Given the description of an element on the screen output the (x, y) to click on. 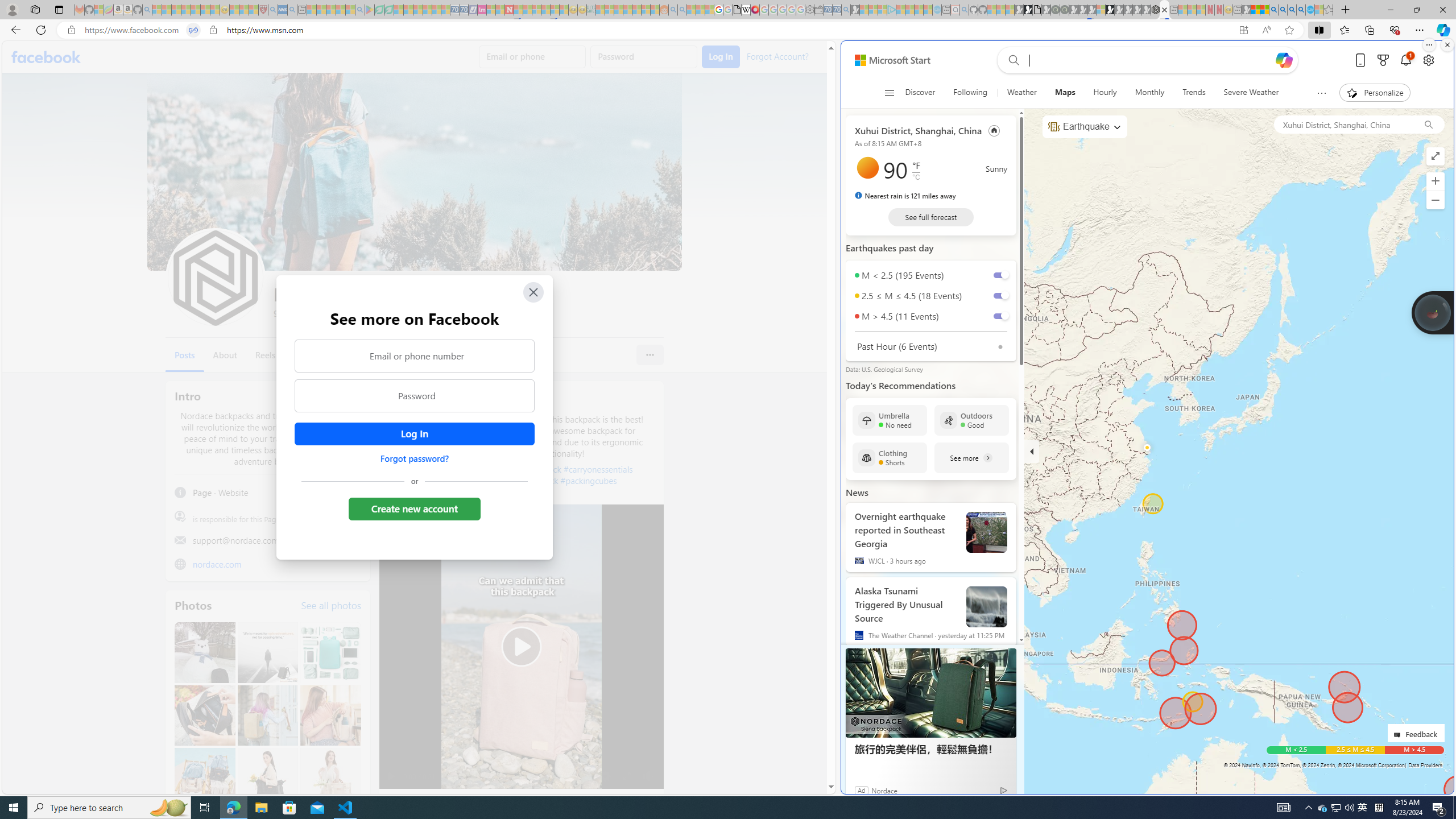
Forgot Account? (776, 55)
Overnight earthquake reported in Southeast Georgia (986, 531)
Bluey: Let's Play! - Apps on Google Play - Sleeping (369, 9)
14 Common Myths Debunked By Scientific Facts - Sleeping (527, 9)
Skip to footer (885, 59)
Open Copilot (1283, 59)
Utah sues federal government - Search - Sleeping (681, 9)
New tab - Sleeping (1236, 9)
Ad Choice (1003, 790)
Umbrella No need (890, 419)
